Given the description of an element on the screen output the (x, y) to click on. 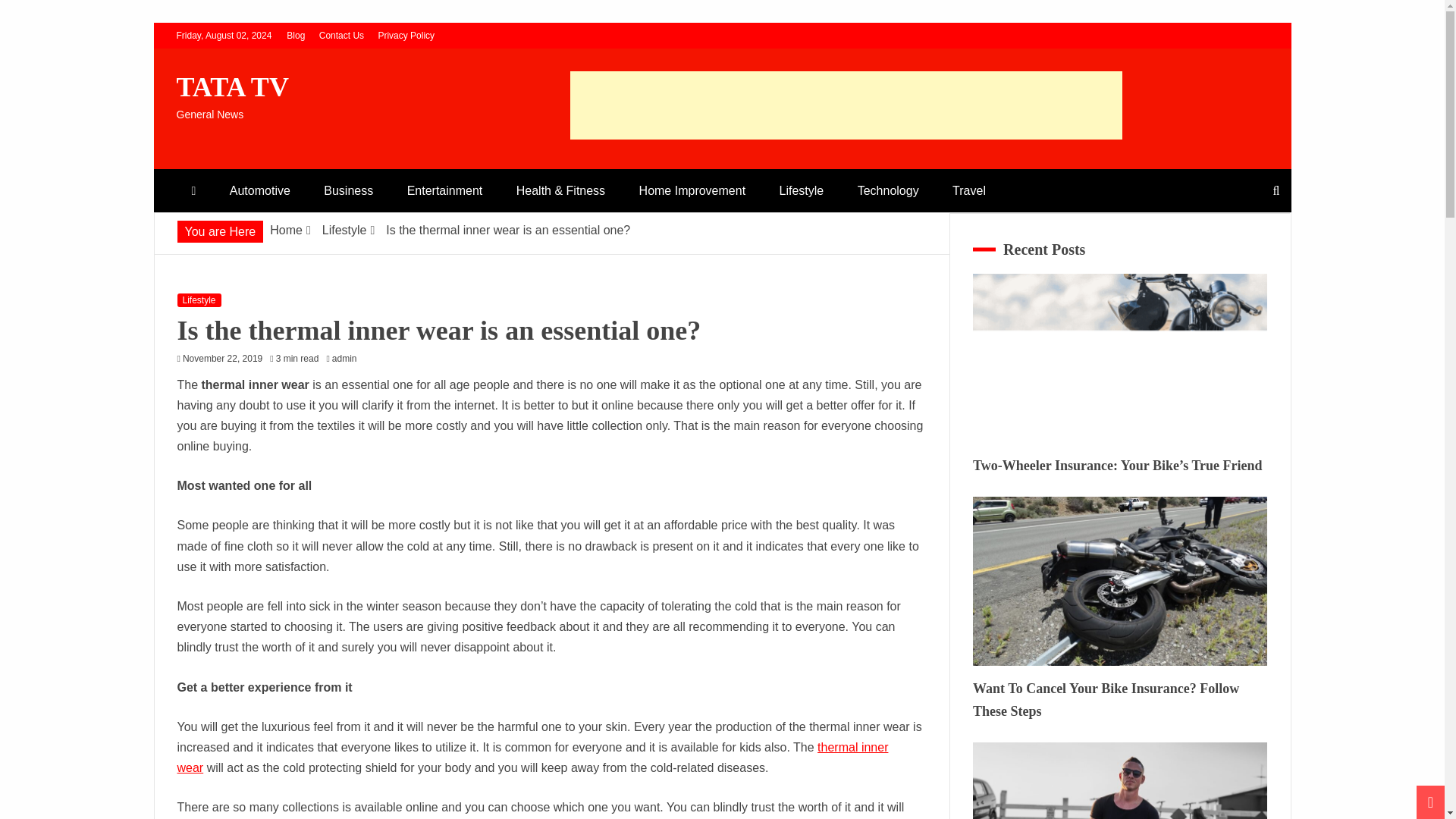
Business (348, 190)
TATA TV (232, 87)
Blog (295, 35)
Travel (969, 190)
Automotive (259, 190)
Lifestyle (199, 300)
Lifestyle (343, 229)
Home (285, 229)
Search (31, 13)
Privacy Policy (405, 35)
thermal inner wear (532, 757)
Home Improvement (692, 190)
Entertainment (444, 190)
Contact Us (341, 35)
Lifestyle (802, 190)
